Given the description of an element on the screen output the (x, y) to click on. 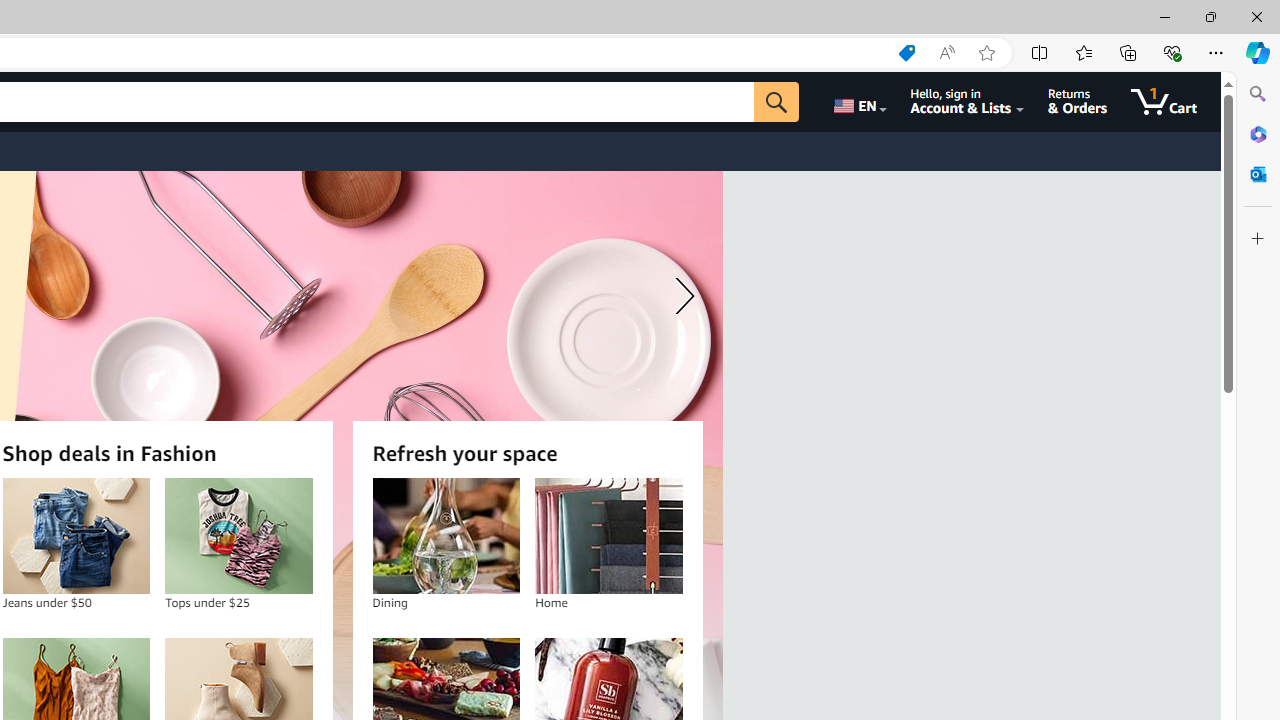
Choose a language for shopping. (858, 101)
Dining (445, 536)
Tops under $25 (239, 536)
Returns & Orders (1077, 101)
Shopping in Microsoft Edge (906, 53)
Go (776, 101)
Hello, sign in Account & Lists (967, 101)
